Given the description of an element on the screen output the (x, y) to click on. 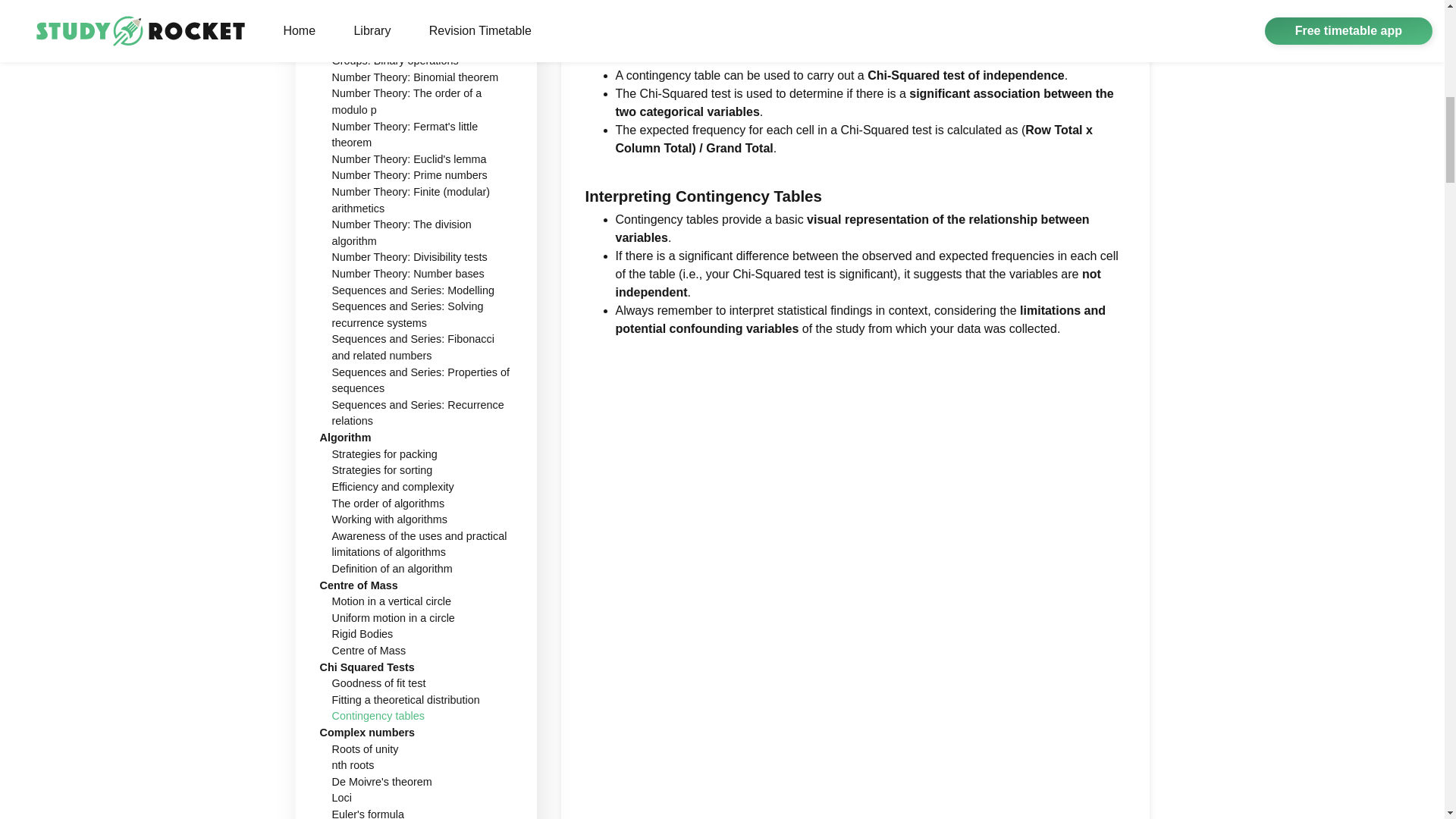
Groups: Binary operations (394, 60)
Groups: Orders of elements and groups (409, 19)
Sequences and Series: Modelling (413, 290)
Number Theory: Fermat's little theorem (405, 133)
Number Theory: Prime numbers (409, 174)
Number Theory: Number bases (407, 273)
Groups: Subgroups (378, 0)
Number Theory: Euclid's lemma (408, 159)
Number Theory: Divisibility tests (409, 256)
Sequences and Series: Fibonacci and related numbers (413, 346)
Groups: Defintion of a group (399, 43)
Number Theory: The division algorithm (401, 232)
Sequences and Series: Solving recurrence systems (407, 314)
Number Theory: The order of a modulo p (406, 101)
Number Theory: Binomial theorem (415, 77)
